Given the description of an element on the screen output the (x, y) to click on. 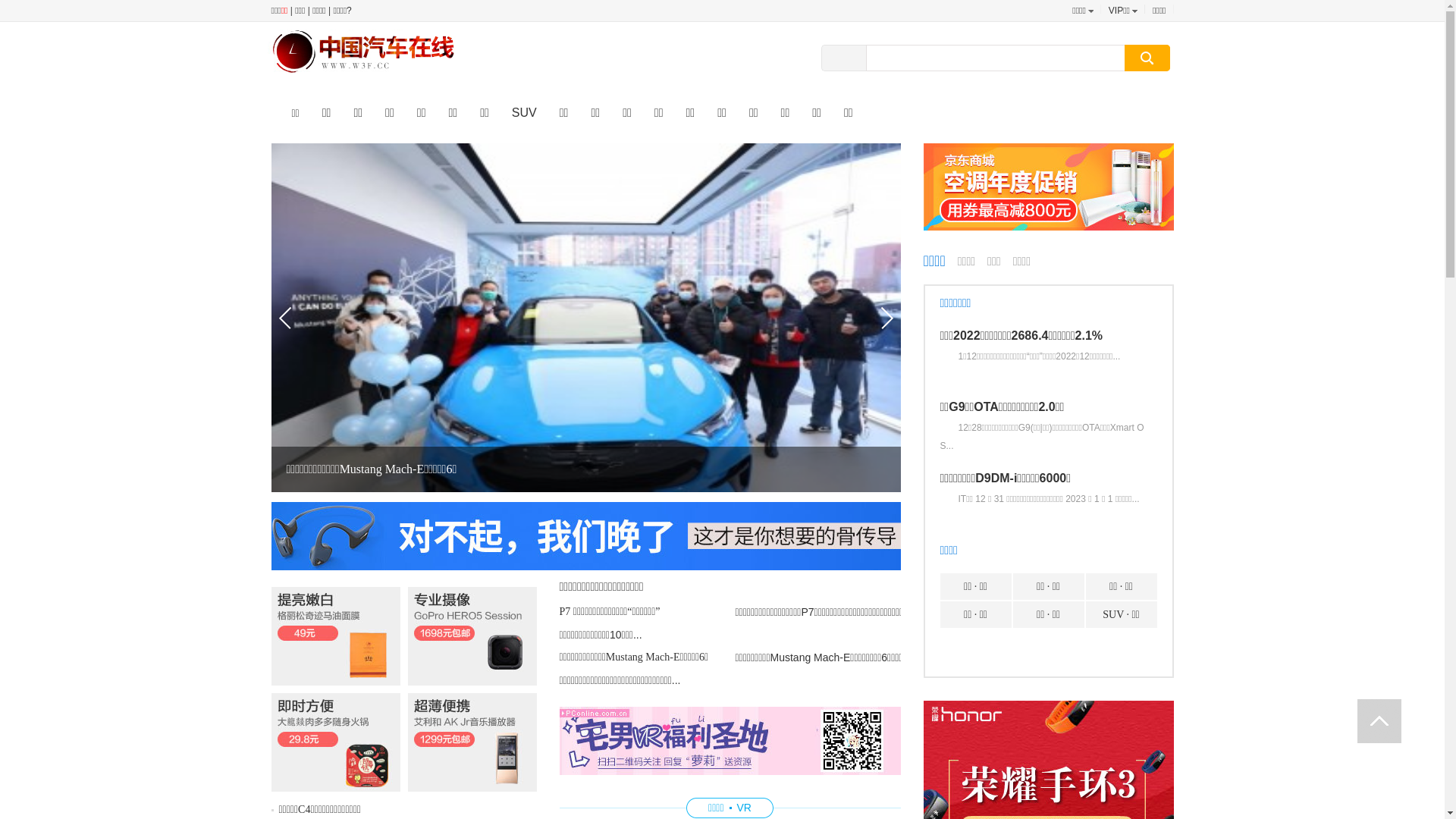
VR Element type: text (744, 807)
SUV Element type: text (524, 112)
  Element type: text (1379, 721)
